Given the description of an element on the screen output the (x, y) to click on. 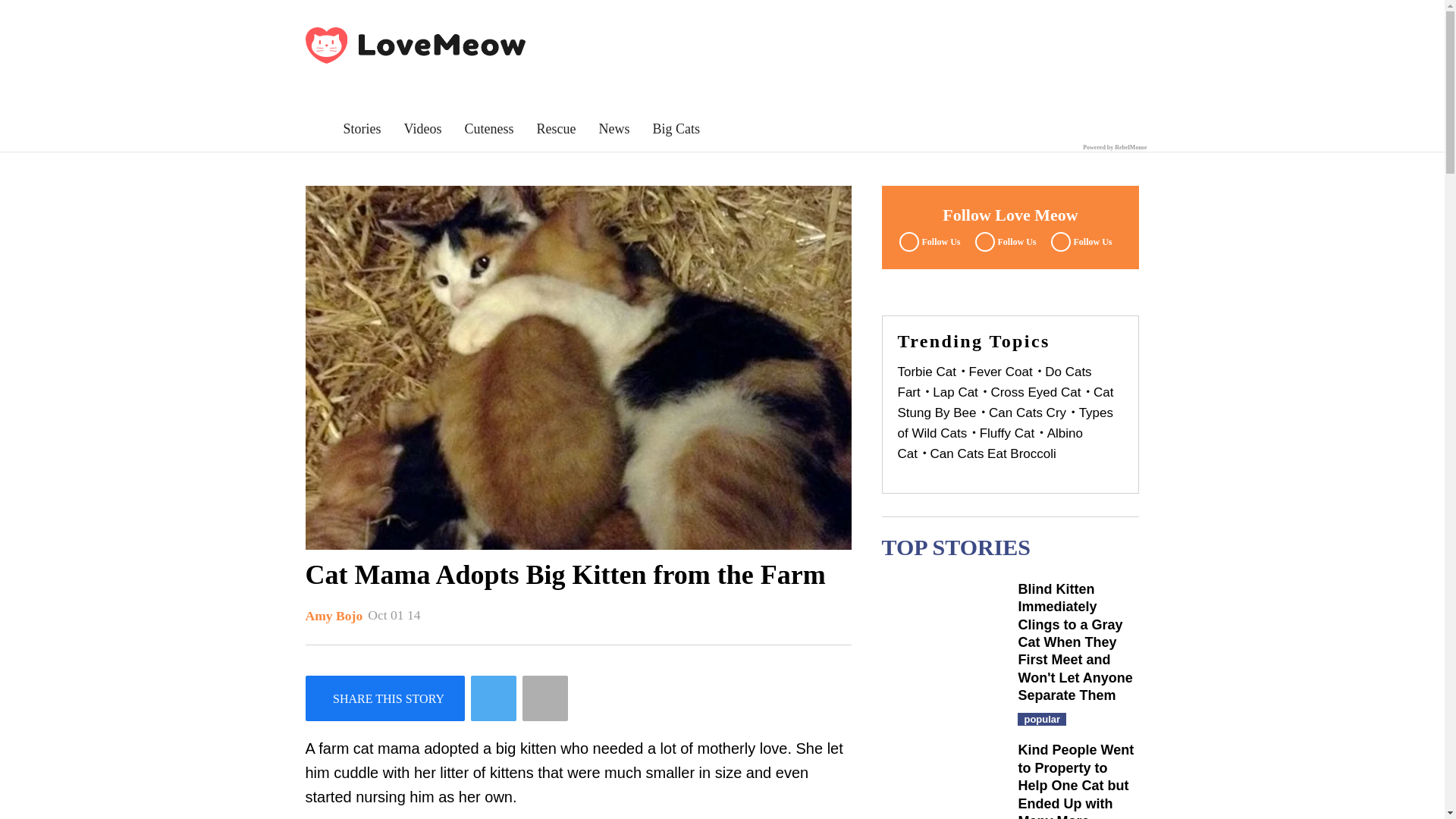
Amy Bojo (333, 616)
Best CMS (1115, 147)
Twitter (1003, 241)
Instagram (1079, 241)
Facebook (926, 241)
Big Cats (676, 128)
Powered by RebelMouse (1115, 147)
Cuteness (488, 128)
